Given the description of an element on the screen output the (x, y) to click on. 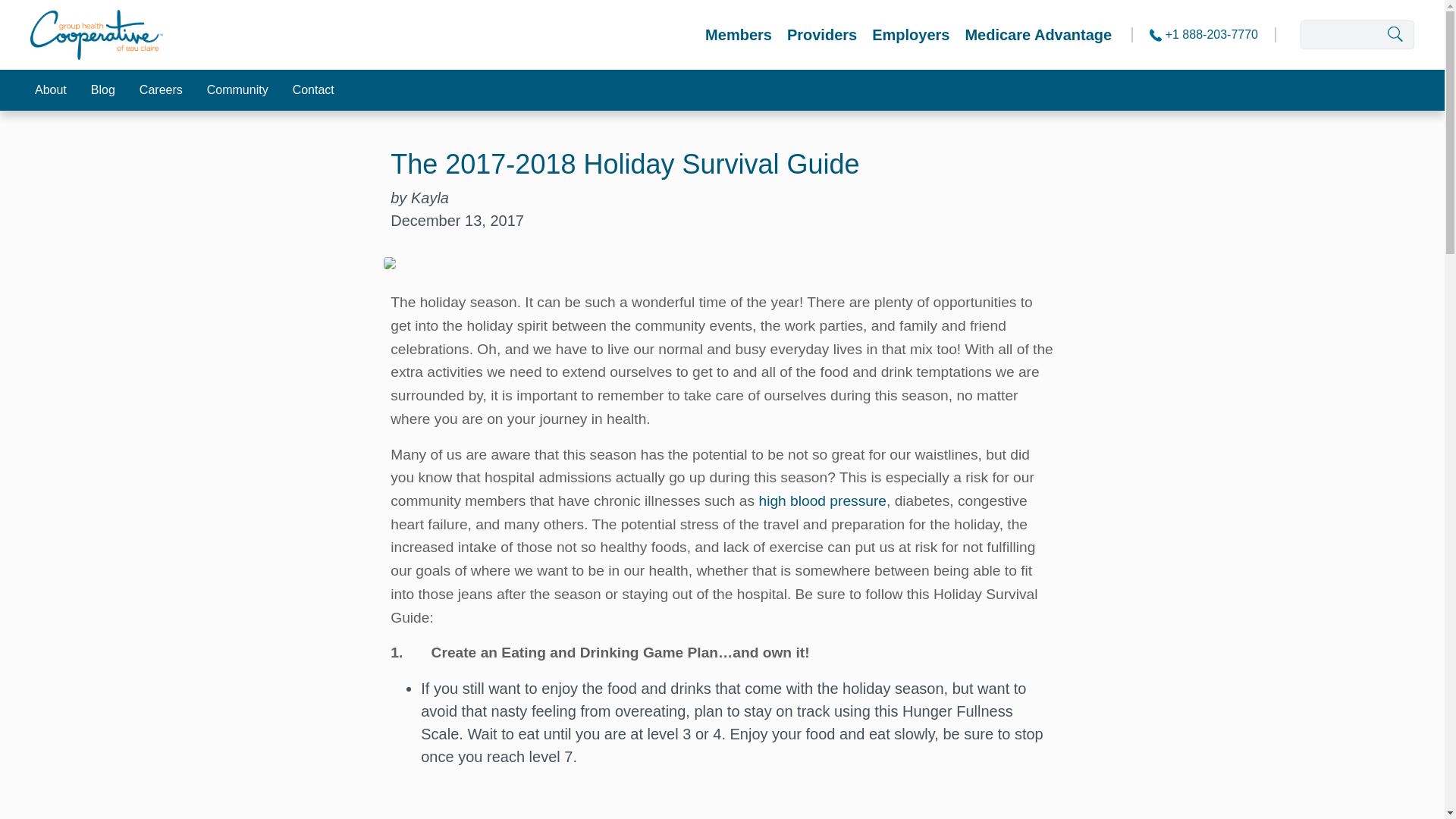
Blog (103, 89)
Providers (821, 34)
Search (1409, 35)
Search (1409, 35)
About (50, 89)
Employers (910, 34)
Careers (161, 89)
Medicare Advantage (1037, 34)
Contact (313, 89)
Members (737, 34)
Search (1409, 35)
high blood pressure (822, 500)
Community (238, 89)
